Given the description of an element on the screen output the (x, y) to click on. 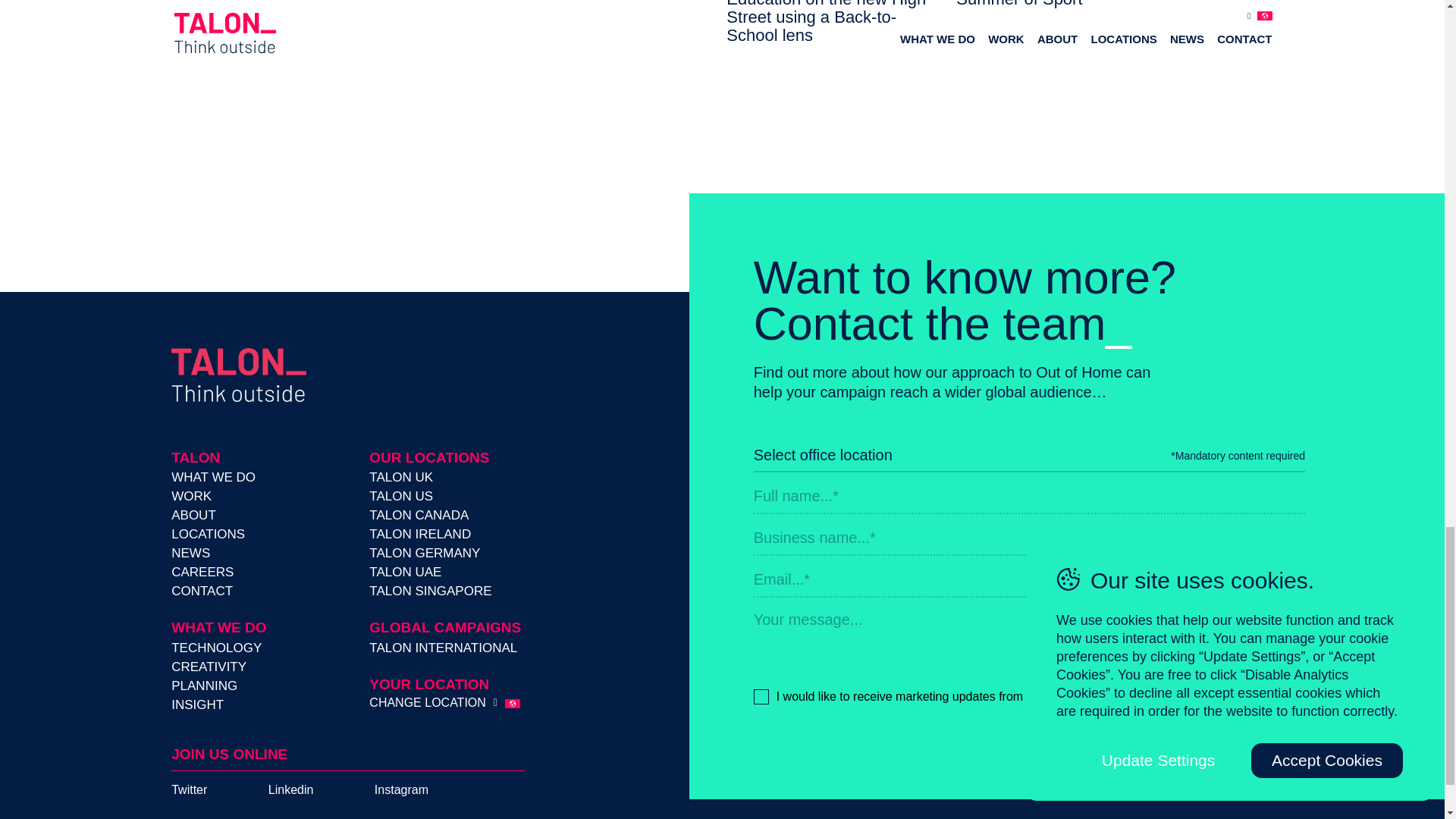
I would like to receive marketing updates from Talon (1029, 696)
Select office location (963, 455)
